Given the description of an element on the screen output the (x, y) to click on. 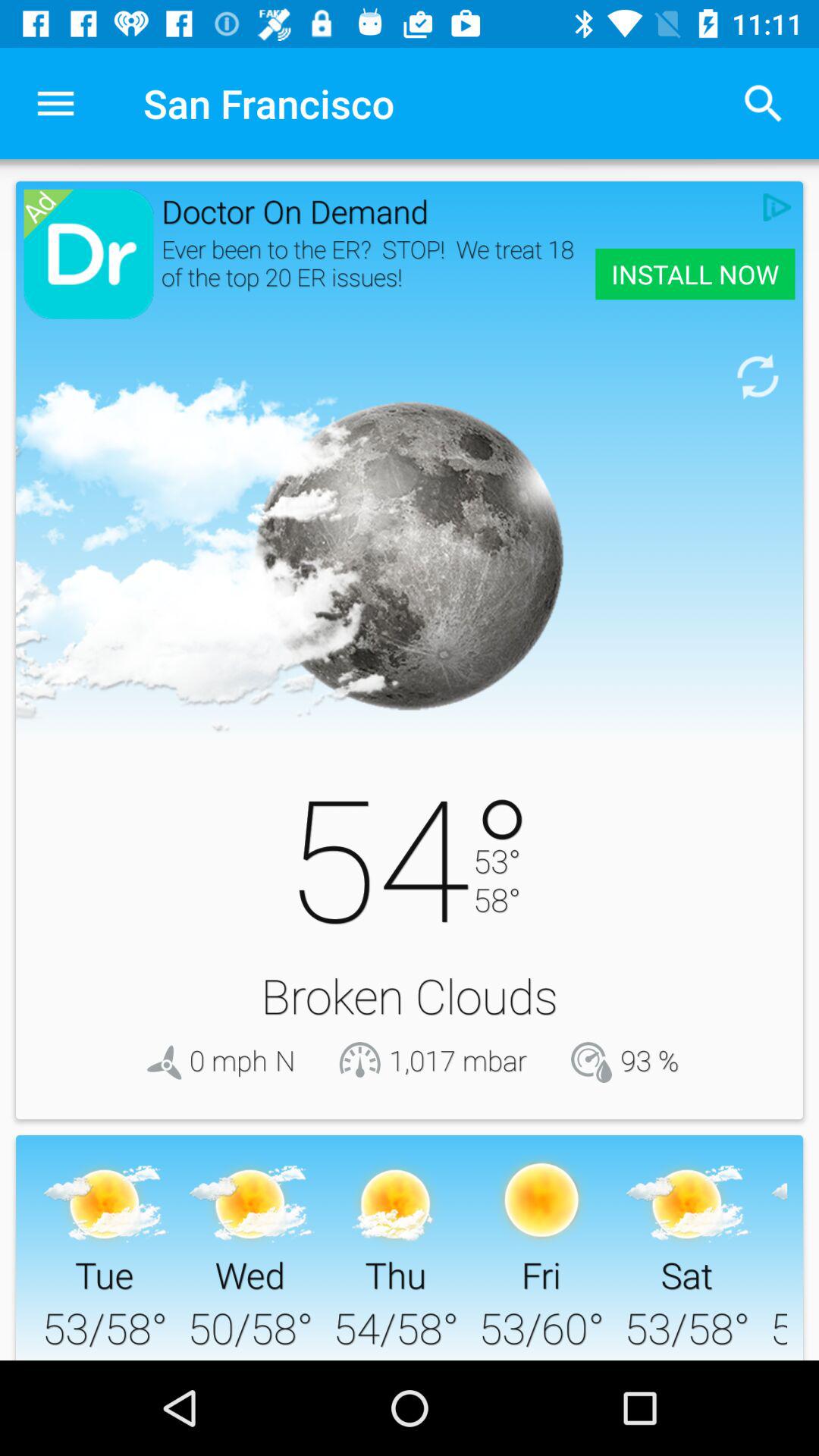
turn on icon to the left of san francisco item (55, 103)
